Given the description of an element on the screen output the (x, y) to click on. 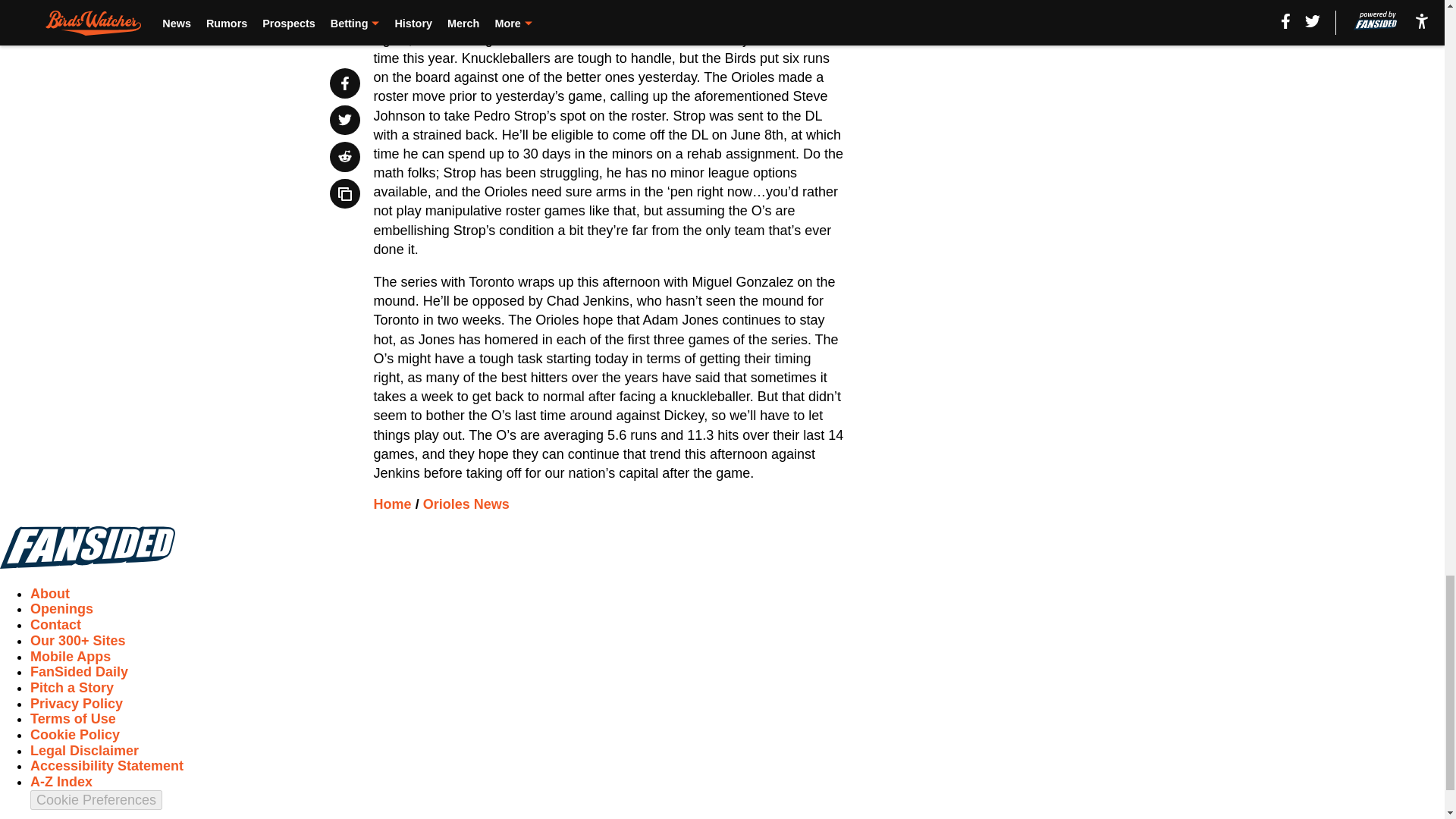
About (49, 593)
FanSided Daily (79, 671)
Mobile Apps (70, 656)
Contact (55, 624)
Orioles News (466, 503)
Openings (61, 608)
Home (393, 503)
